Given the description of an element on the screen output the (x, y) to click on. 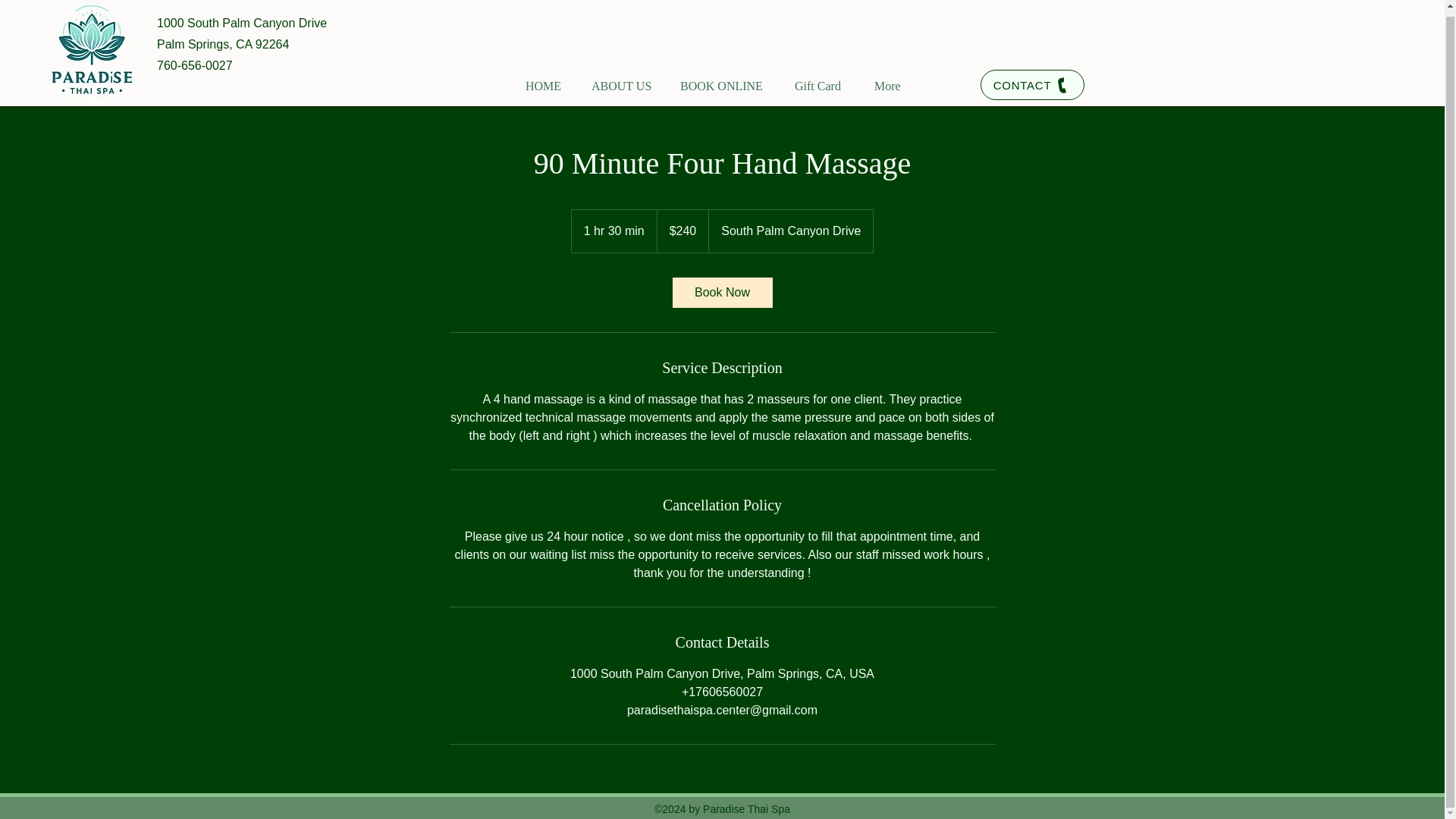
ABOUT US (622, 78)
BOOK ONLINE (723, 78)
Gift Card (820, 78)
Book Now (721, 292)
HOME (545, 78)
CONTACT (1031, 84)
